Given the description of an element on the screen output the (x, y) to click on. 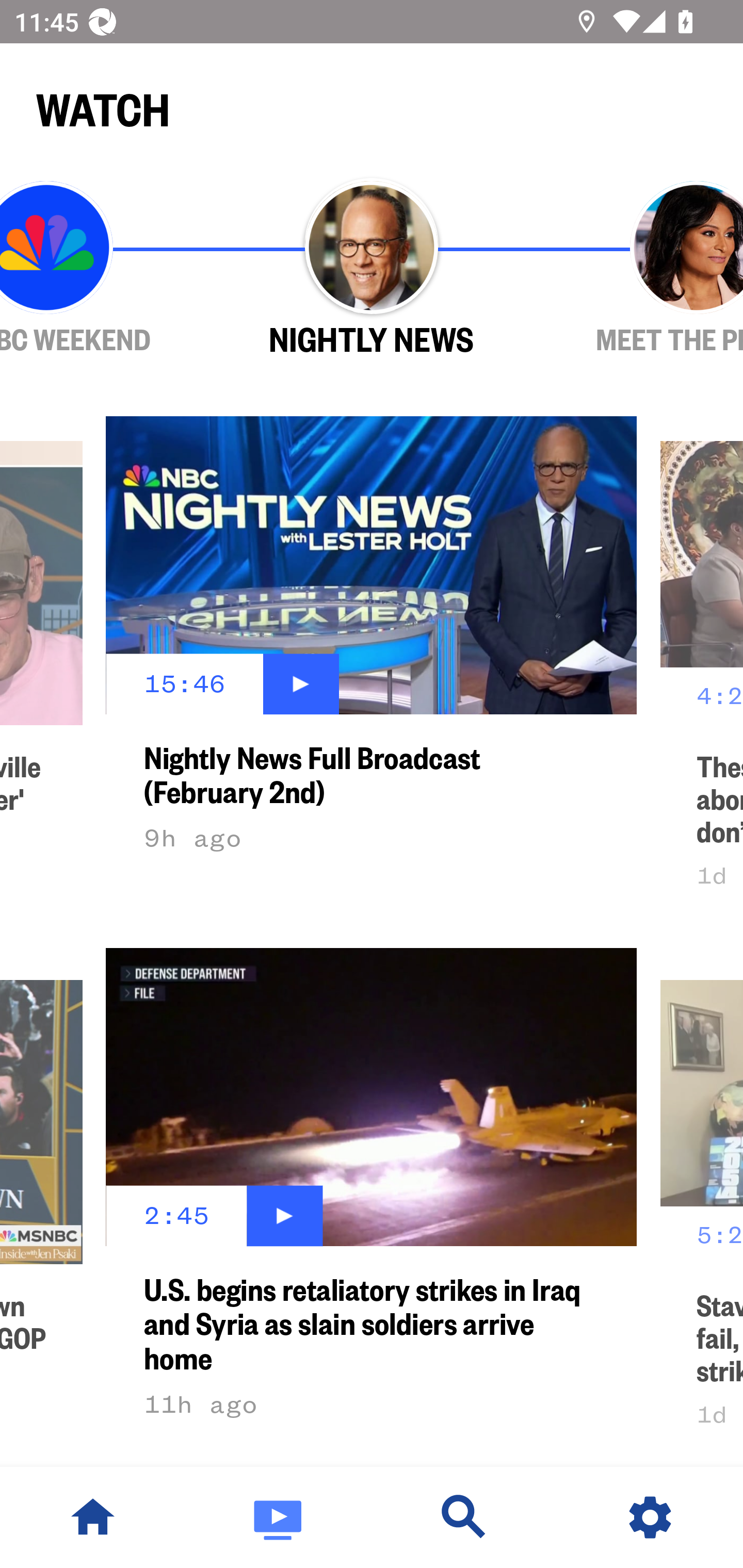
MSNBC WEEKEND (104, 268)
NIGHTLY NEWS (371, 268)
MEET THE PRESS (638, 268)
NBC News Home (92, 1517)
Discover (464, 1517)
Settings (650, 1517)
